Given the description of an element on the screen output the (x, y) to click on. 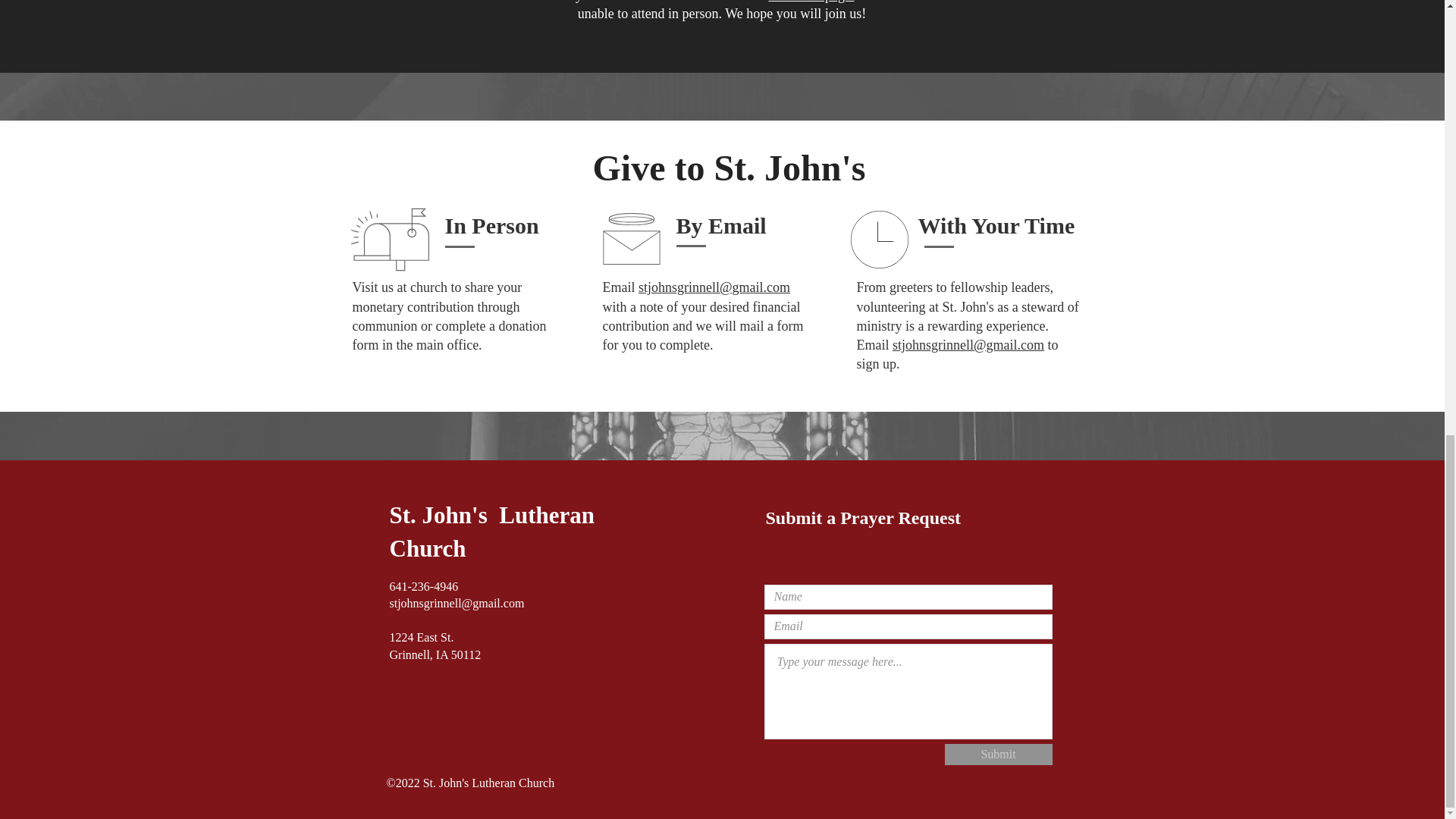
Facebook page (810, 1)
Submit (998, 753)
